Given the description of an element on the screen output the (x, y) to click on. 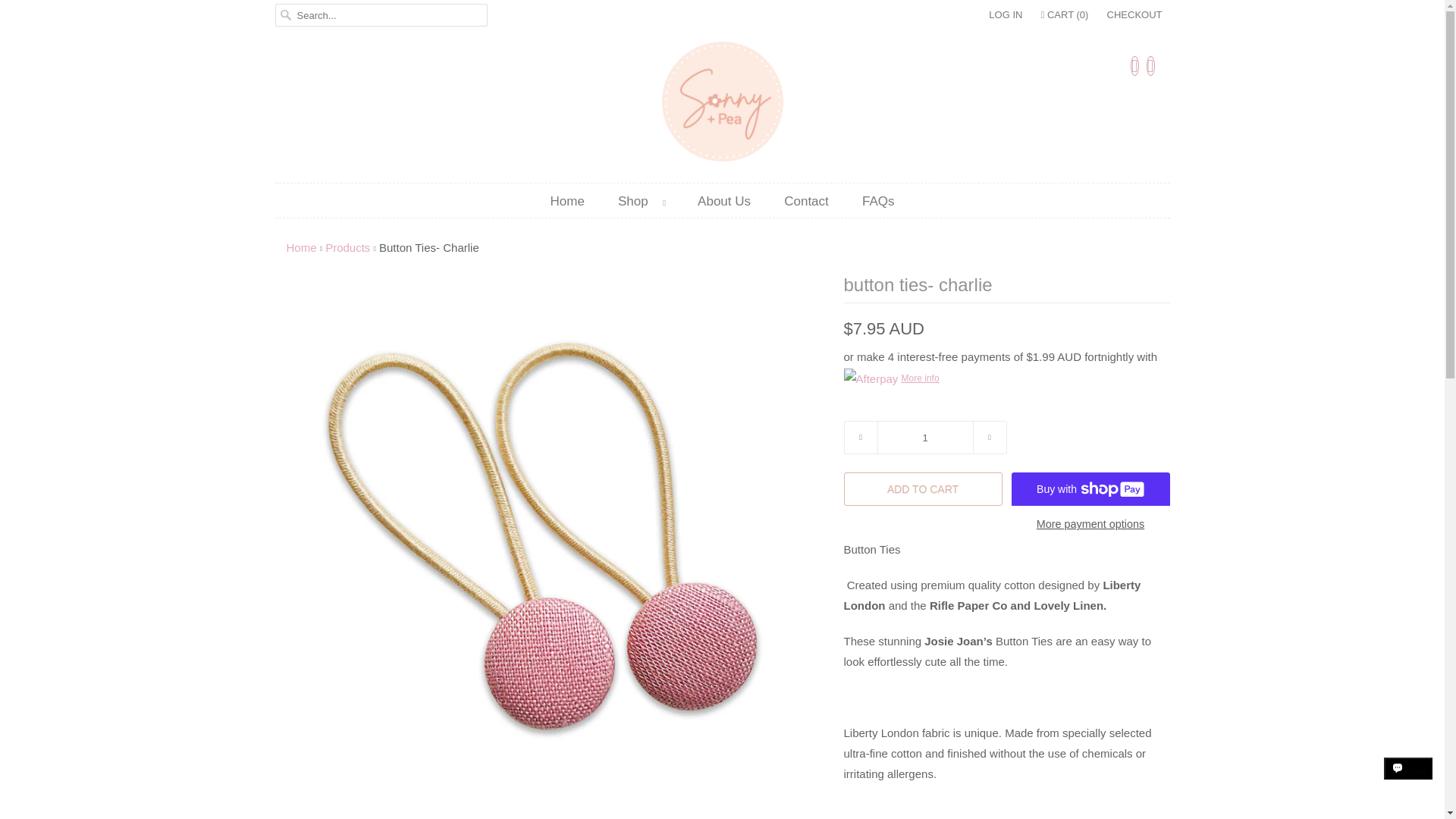
Shopify online store chat (1408, 781)
Products (346, 246)
LOG IN (1005, 15)
Sonny and Pea (722, 104)
Sonny and Pea (301, 246)
CHECKOUT (1133, 15)
1 (924, 437)
